Given the description of an element on the screen output the (x, y) to click on. 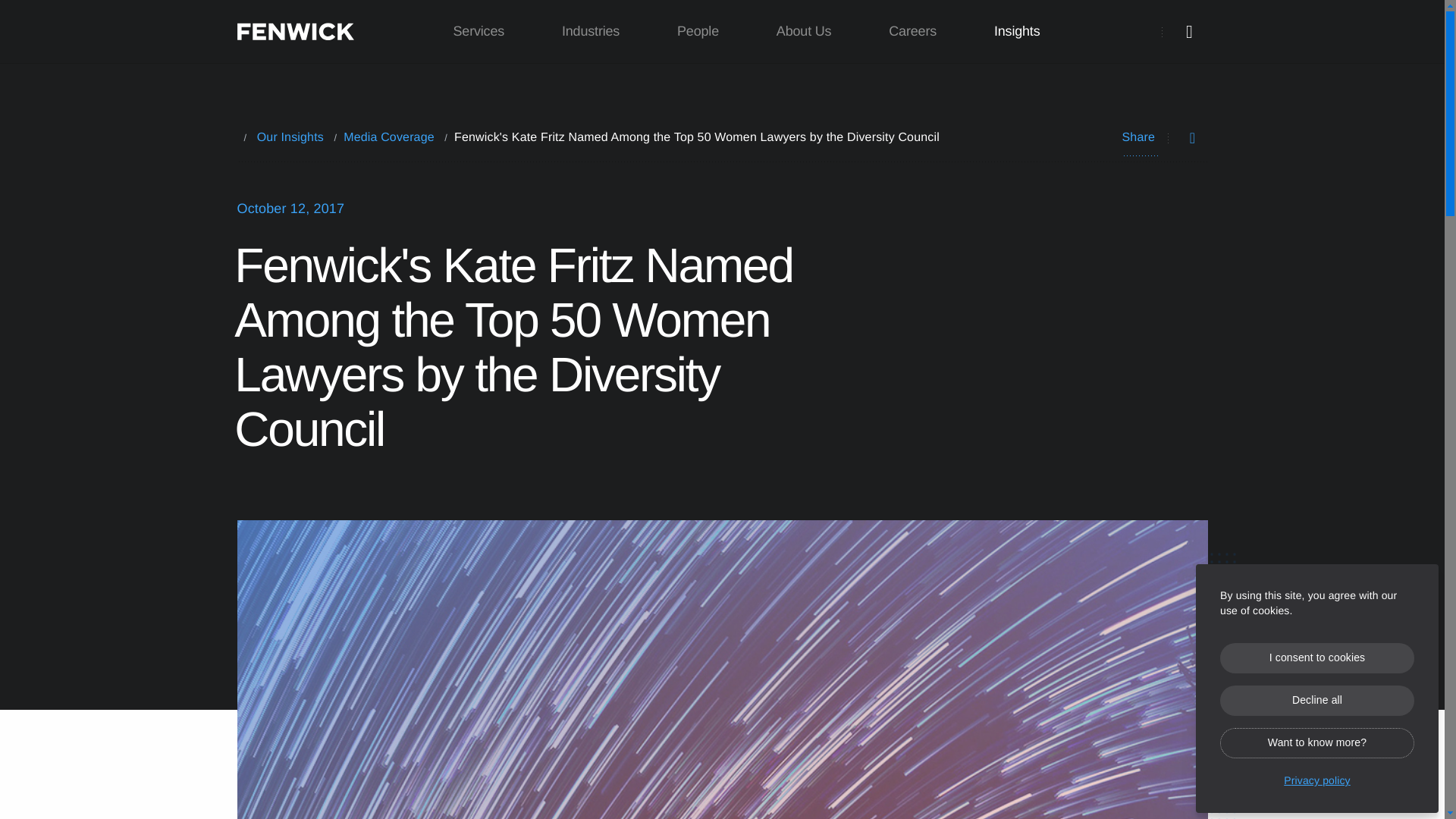
i consent to cookies (1316, 657)
decline all (1316, 700)
search icon (1188, 31)
want to know more? (1316, 743)
privacy policy (1316, 776)
Services (478, 31)
